Given the description of an element on the screen output the (x, y) to click on. 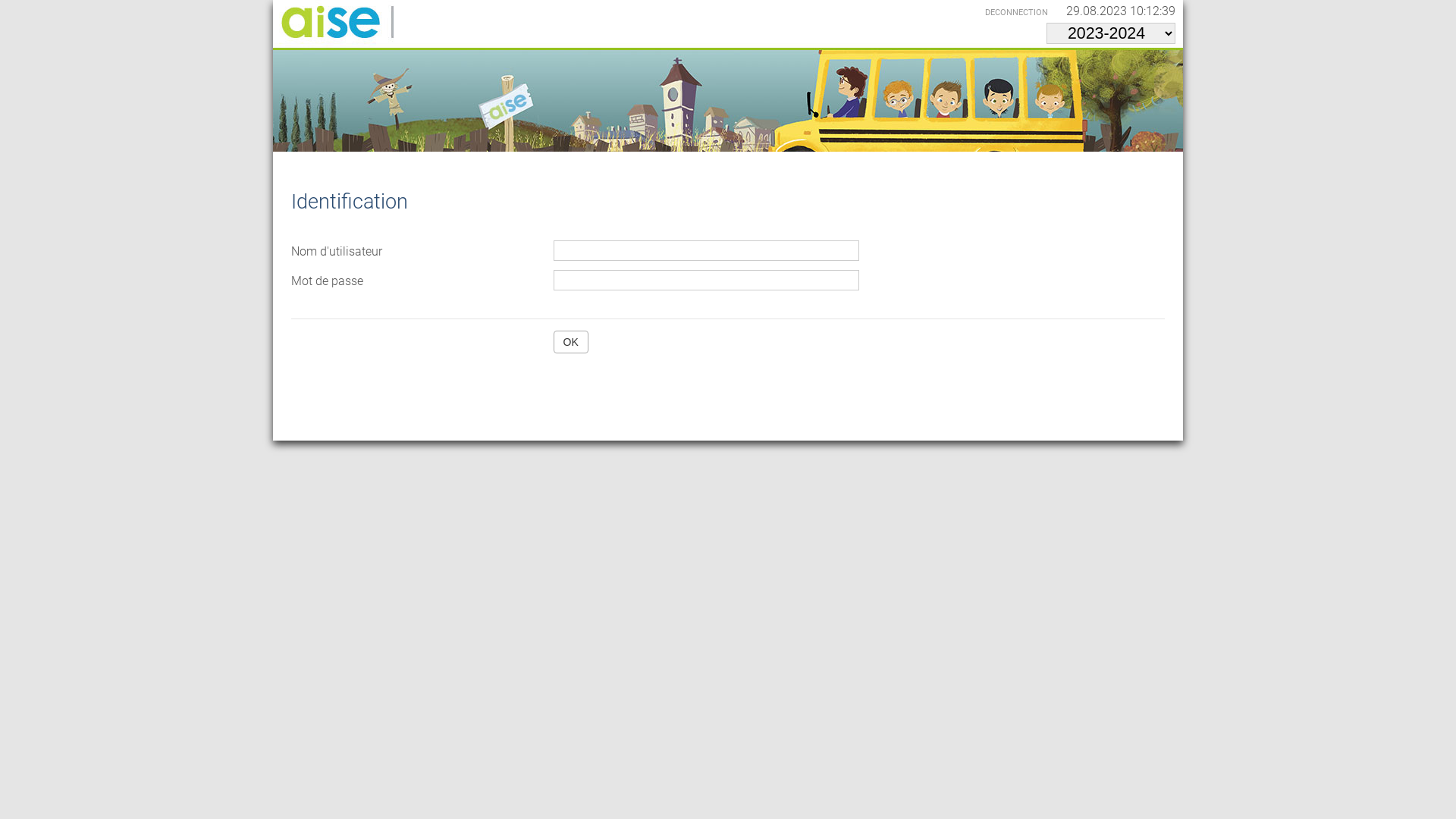
DECONNECTION Element type: text (1024, 12)
OK Element type: text (570, 341)
